Given the description of an element on the screen output the (x, y) to click on. 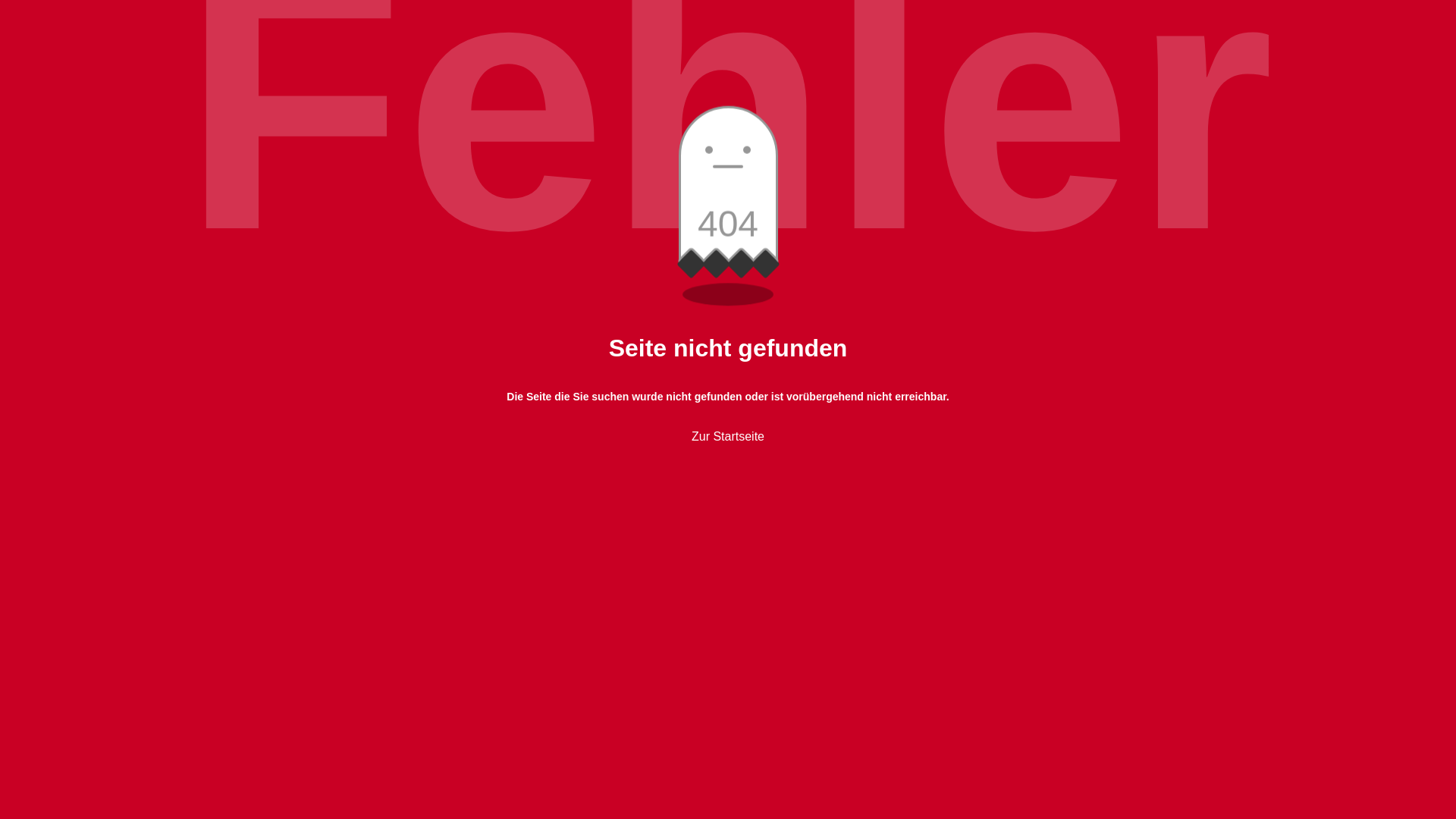
Zur Startseite Element type: text (727, 435)
